Given the description of an element on the screen output the (x, y) to click on. 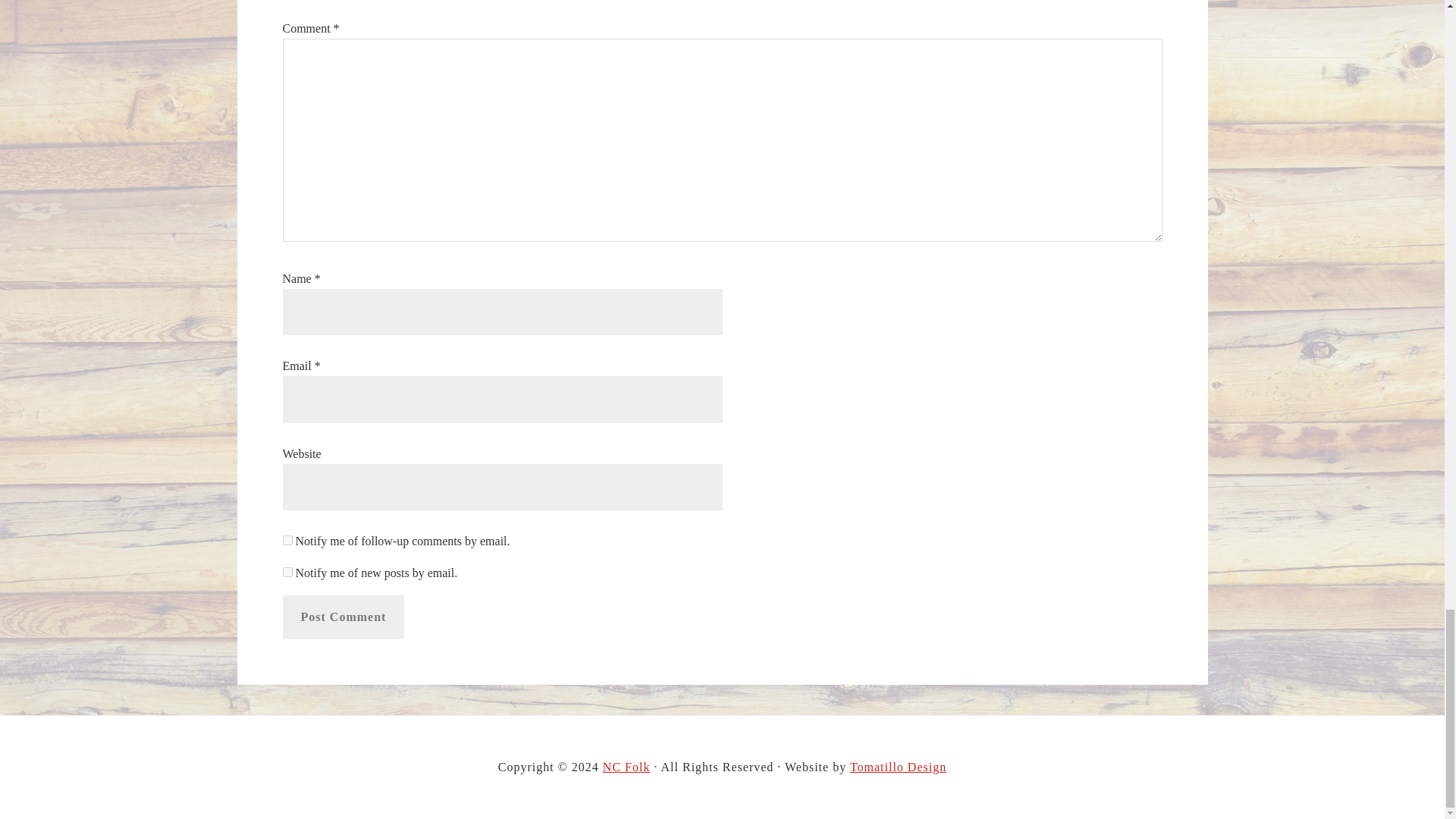
Beautiful, Affordable Websites for Nonprofits (898, 766)
subscribe (287, 572)
Post Comment (343, 617)
subscribe (287, 540)
